Given the description of an element on the screen output the (x, y) to click on. 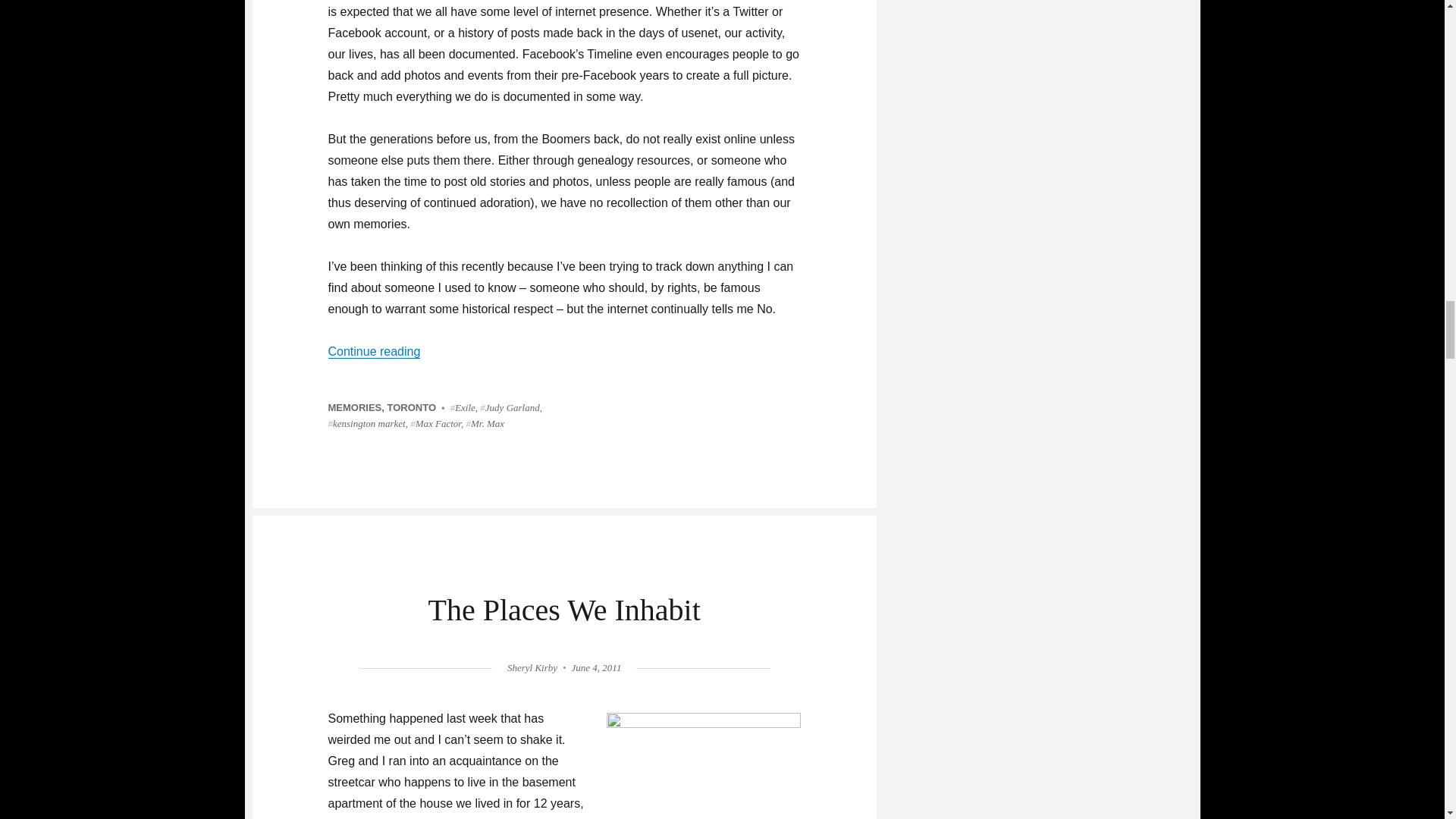
closekitchen1 (703, 765)
